Given the description of an element on the screen output the (x, y) to click on. 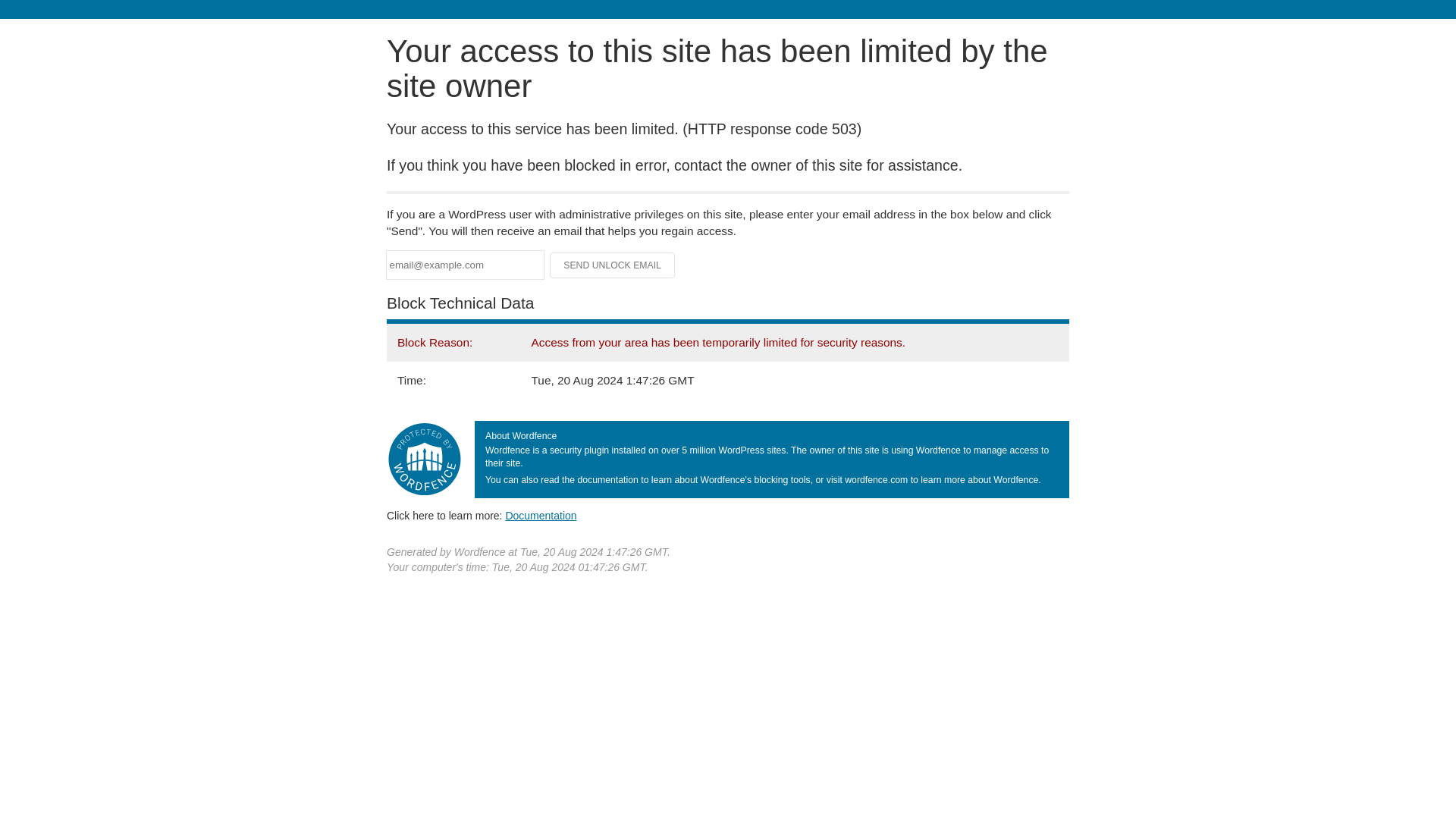
Send Unlock Email (612, 265)
Send Unlock Email (612, 265)
Documentation (540, 515)
